Given the description of an element on the screen output the (x, y) to click on. 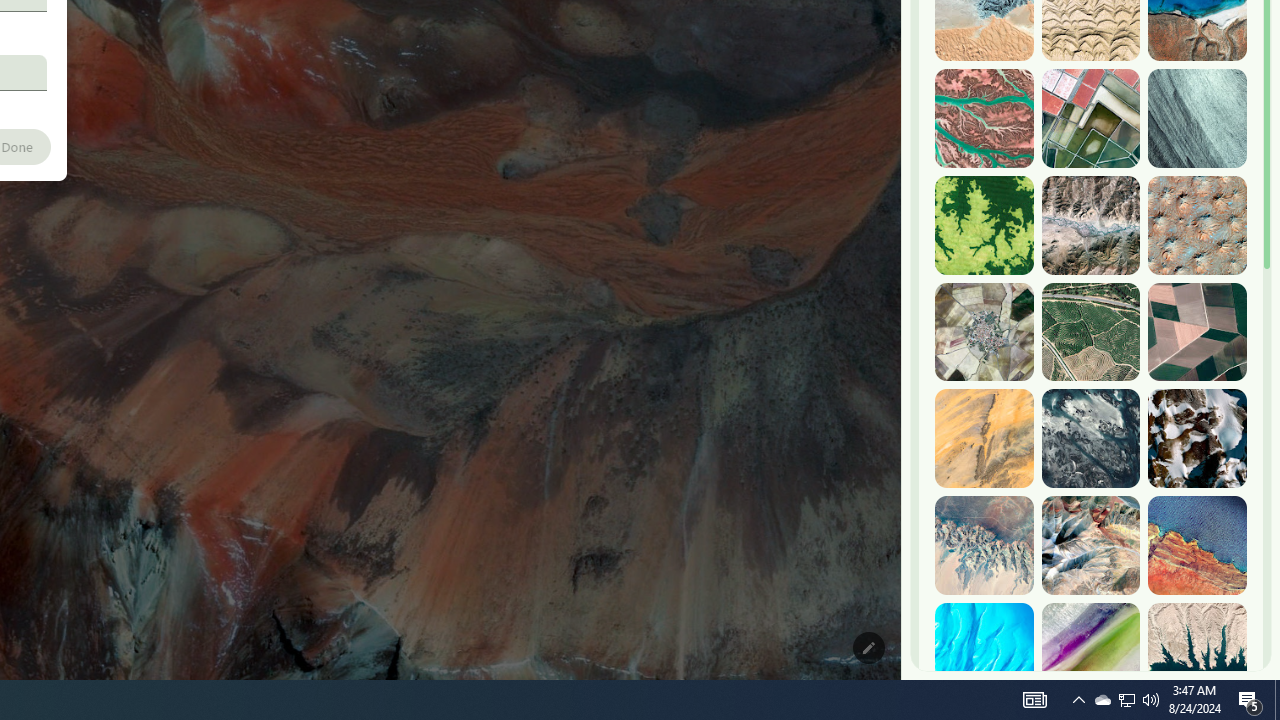
Dekese, DR Congo (984, 225)
Pozoantiguo, Spain (984, 332)
Davis County, United States (1090, 651)
Ngari, China (1090, 545)
